Given the description of an element on the screen output the (x, y) to click on. 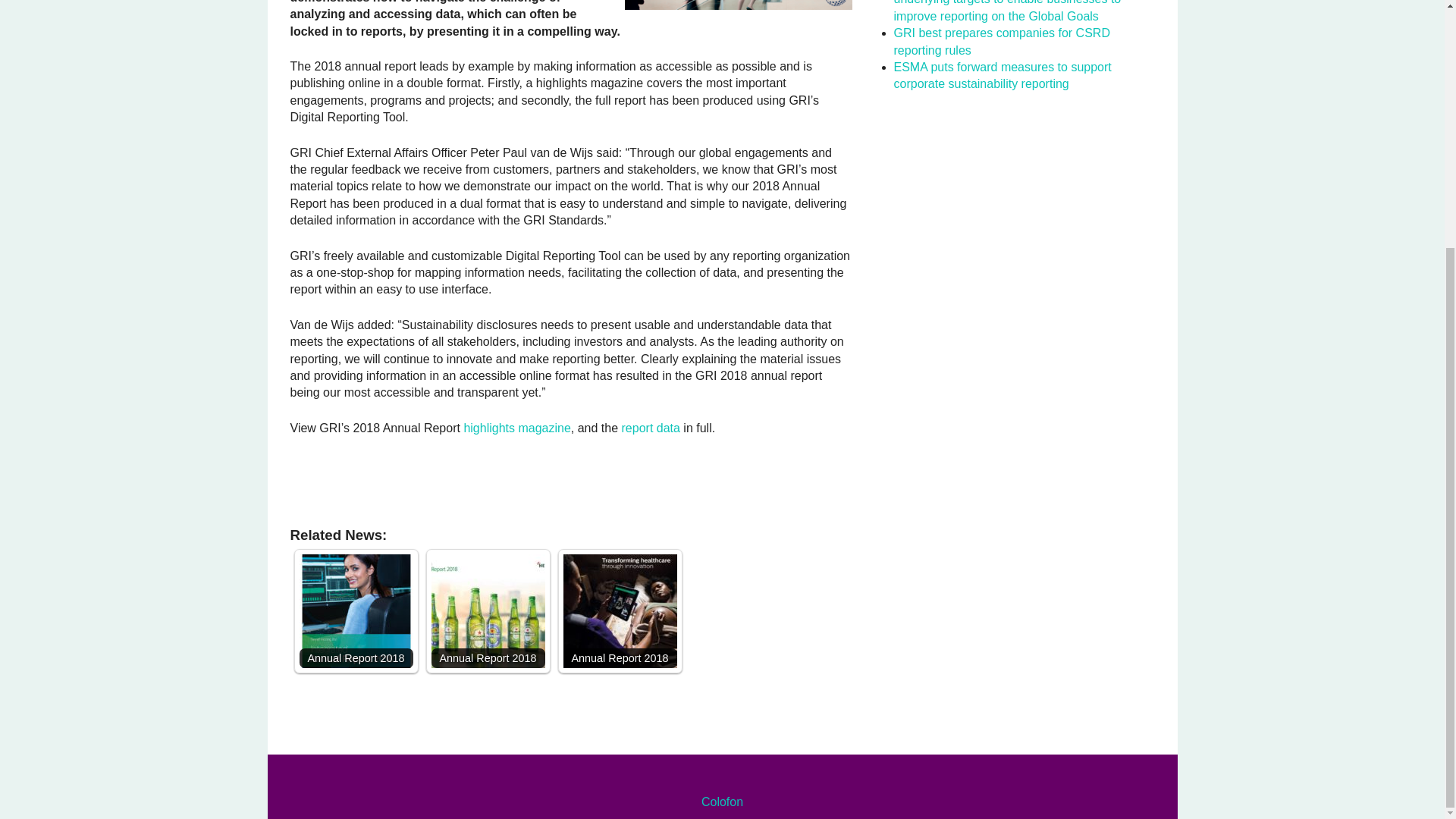
Annual Report 2018 (619, 611)
Annual Report 2018 (487, 611)
Annual Report 2018 (619, 611)
Colofon (721, 801)
GRI best prepares companies for CSRD reporting rules (1001, 41)
report data (650, 427)
Annual Report 2018 (355, 611)
Annual Report 2018 (355, 611)
